Given the description of an element on the screen output the (x, y) to click on. 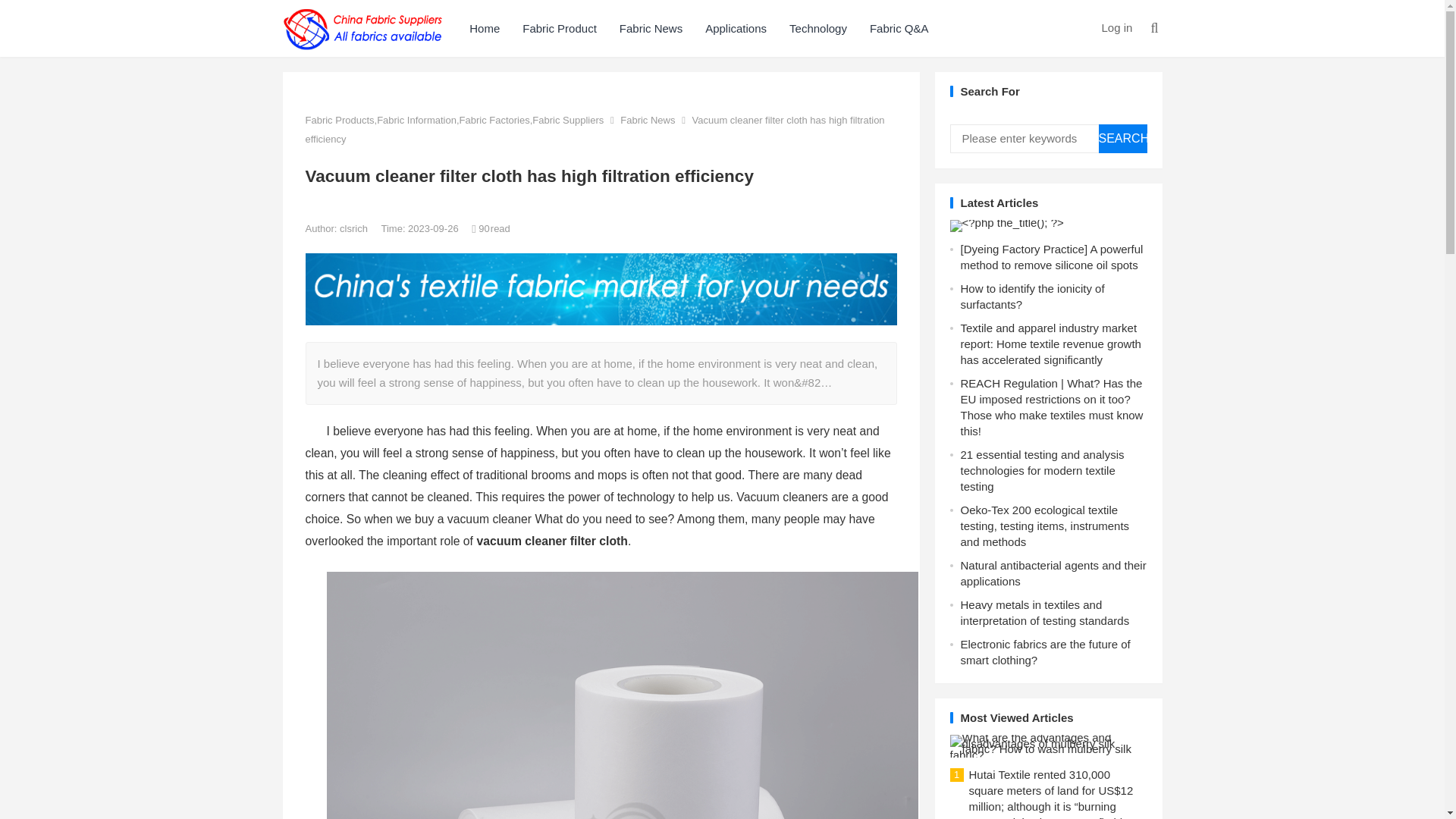
Fabric Product (559, 28)
Home (484, 28)
Log in (1116, 27)
Fabric News (651, 28)
Applications (735, 28)
Technology (818, 28)
